Given the description of an element on the screen output the (x, y) to click on. 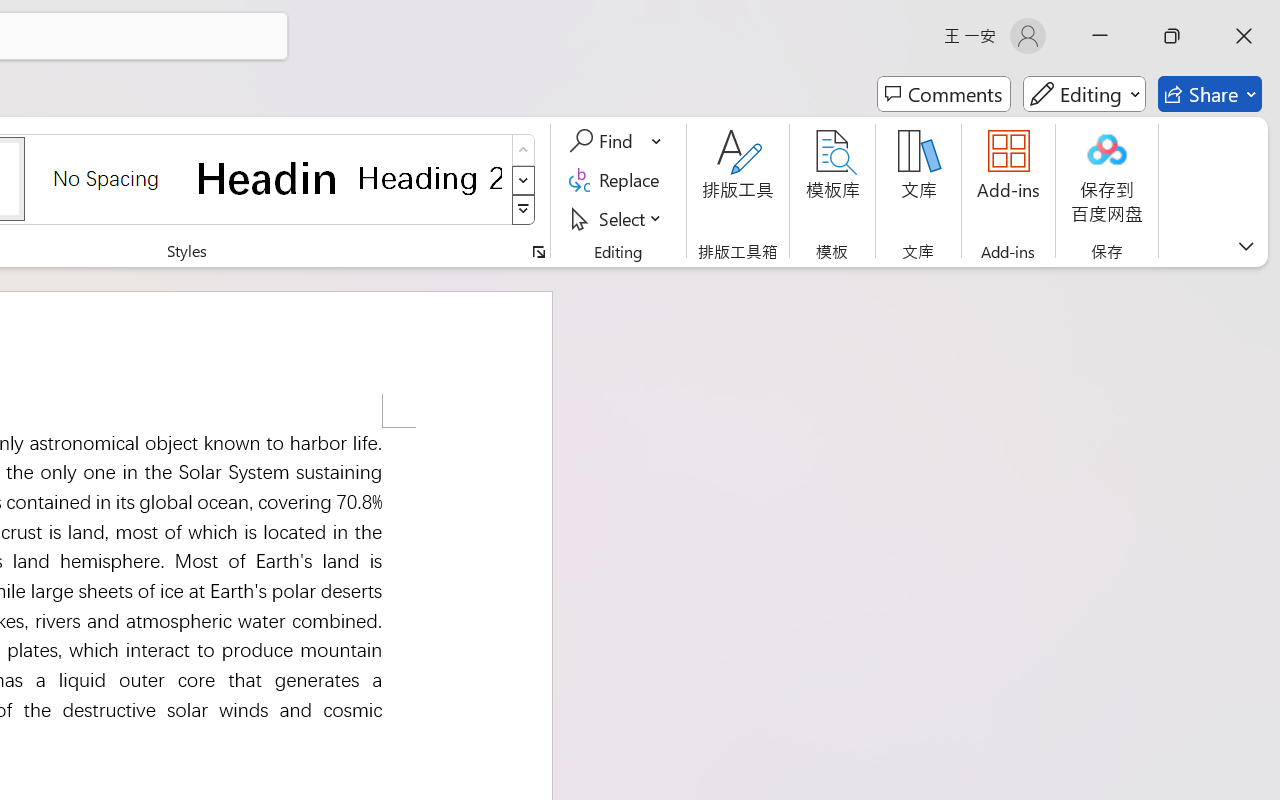
Heading 2 (429, 178)
Select (618, 218)
Styles (523, 209)
Heading 1 (267, 178)
